Given the description of an element on the screen output the (x, y) to click on. 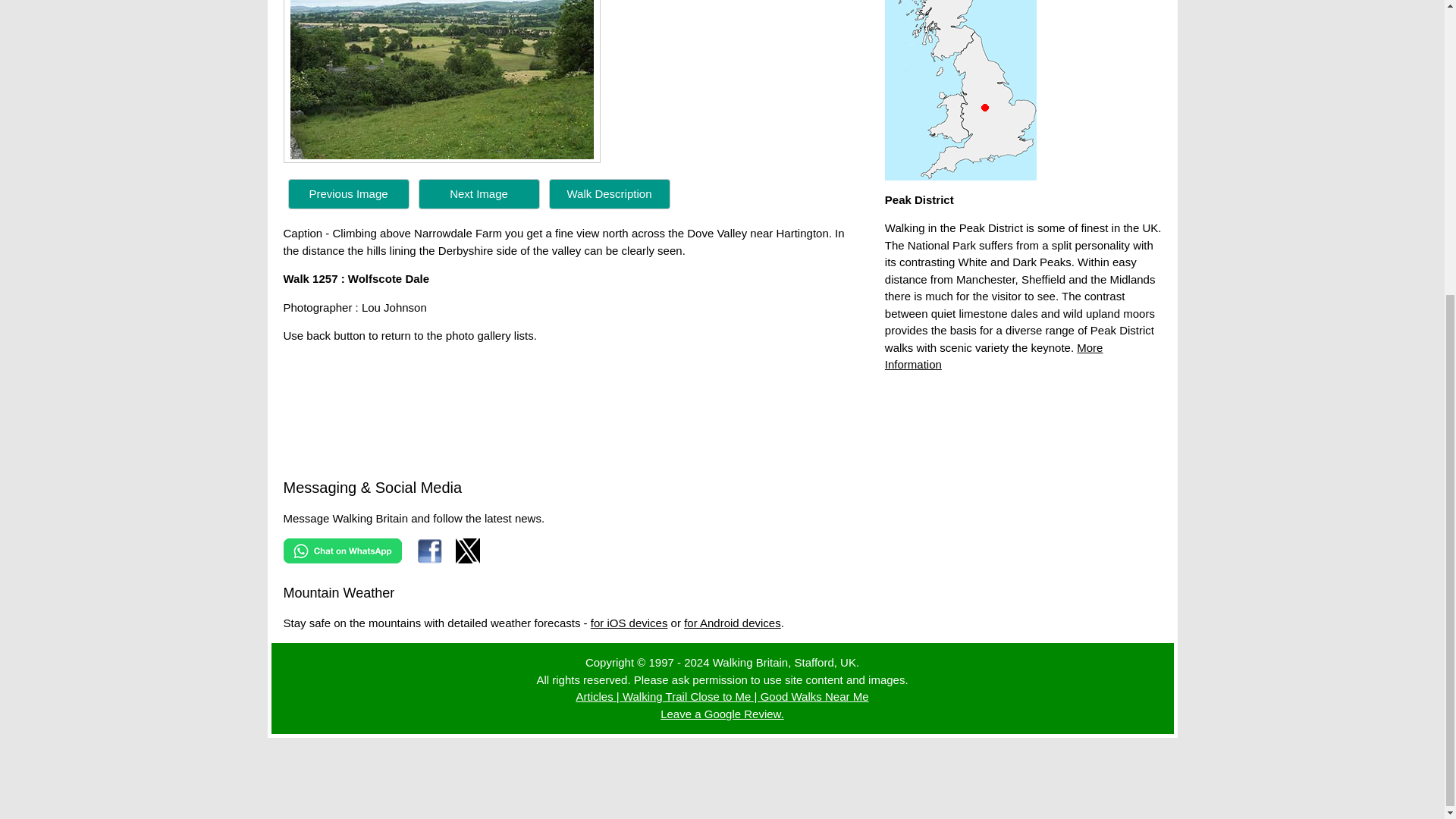
Walk Description (608, 194)
Previous Image (348, 194)
for iOS devices (629, 622)
More Information (994, 356)
Advertisement (1023, 422)
Previous Image (348, 192)
Advertisement (721, 779)
Walk Description (609, 192)
for Android devices (732, 622)
Next Image (478, 192)
Next Image (479, 194)
